Given the description of an element on the screen output the (x, y) to click on. 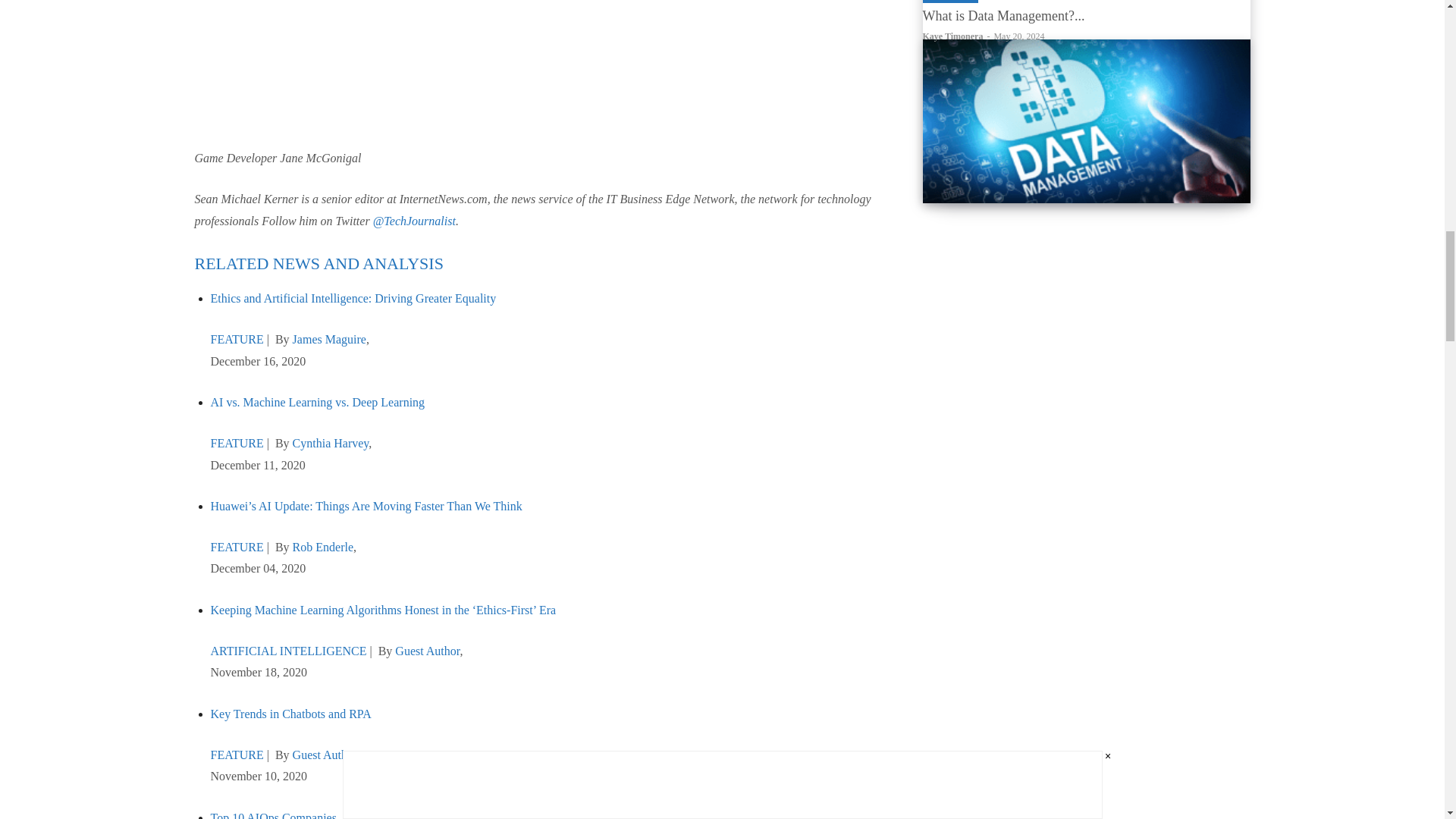
Ethics and Artificial Intelligence: Driving Greater Equality (353, 297)
